Given the description of an element on the screen output the (x, y) to click on. 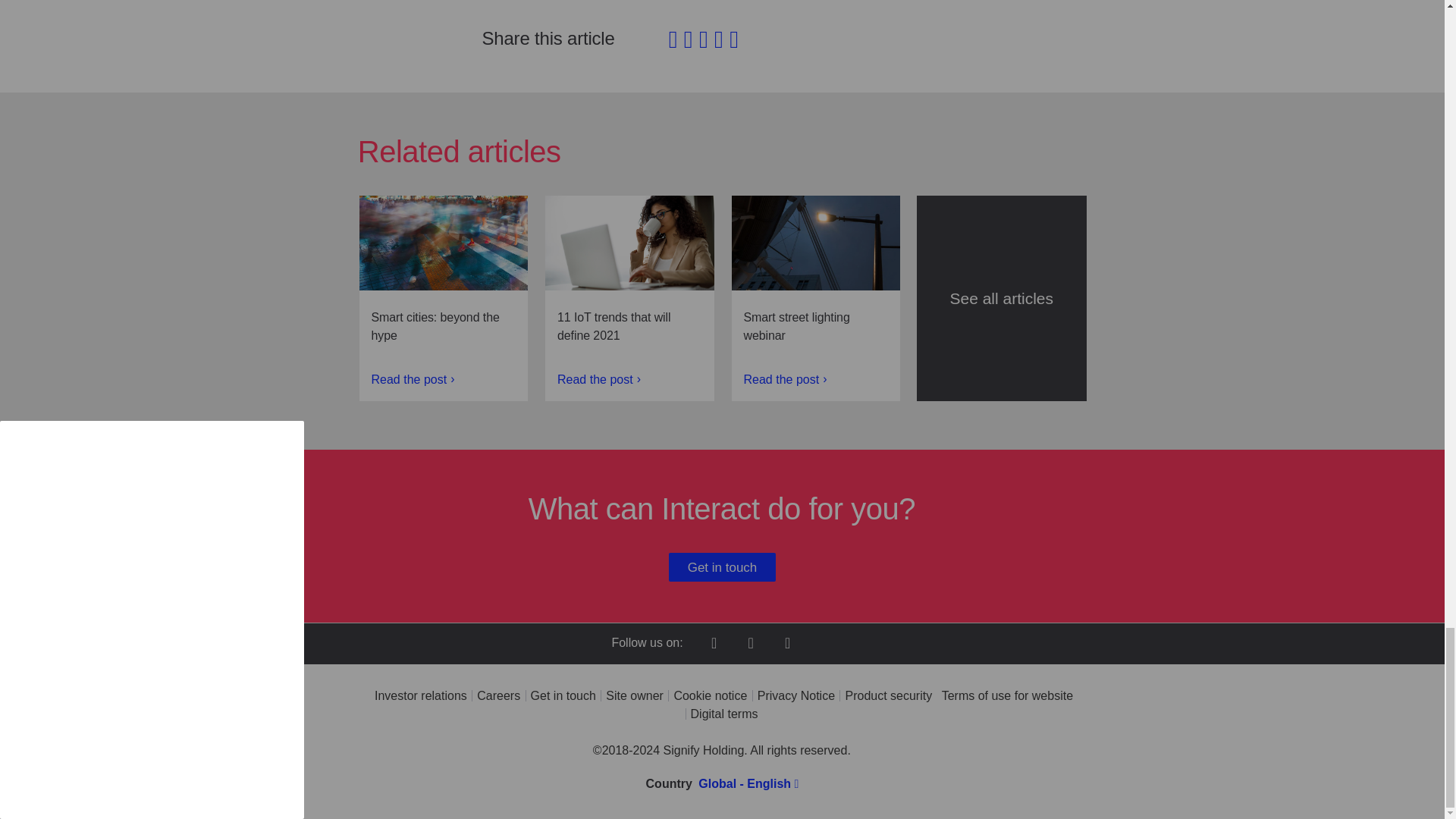
Get in touch (722, 566)
